Given the description of an element on the screen output the (x, y) to click on. 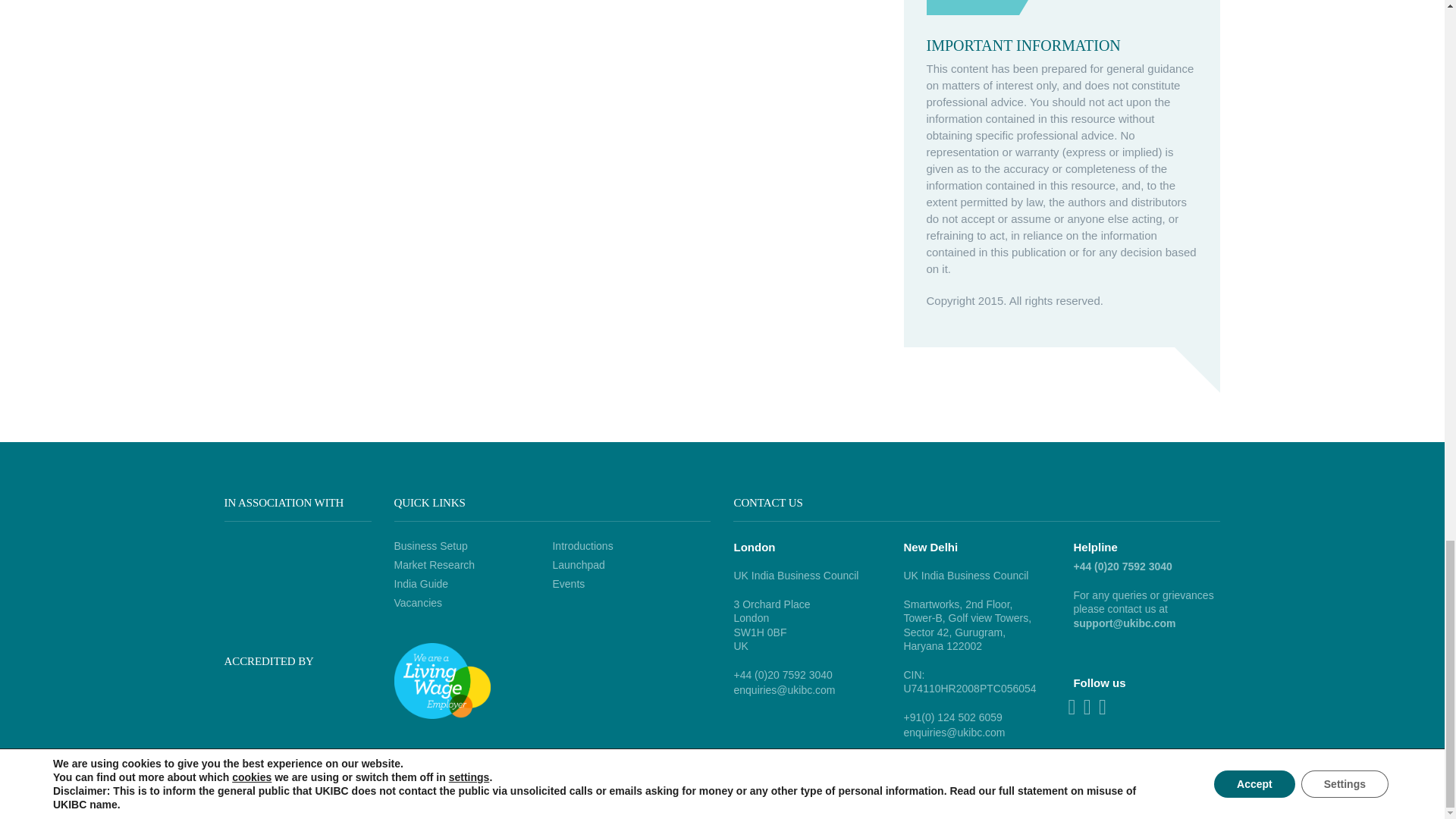
Created with Snap (7, 802)
WordPress website (1087, 789)
WordPress agency (1171, 789)
